Given the description of an element on the screen output the (x, y) to click on. 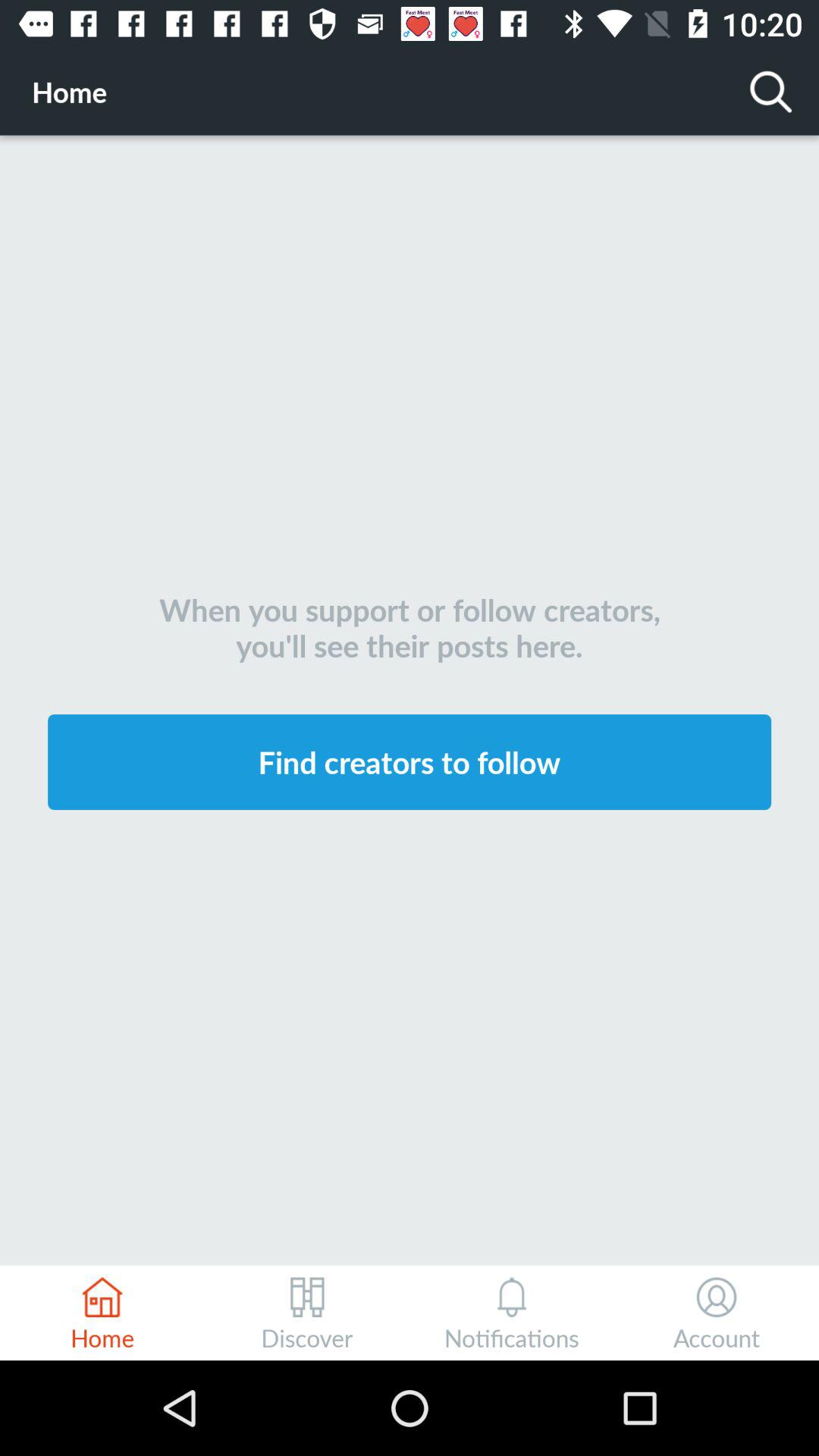
tap the item next to the home icon (771, 91)
